Given the description of an element on the screen output the (x, y) to click on. 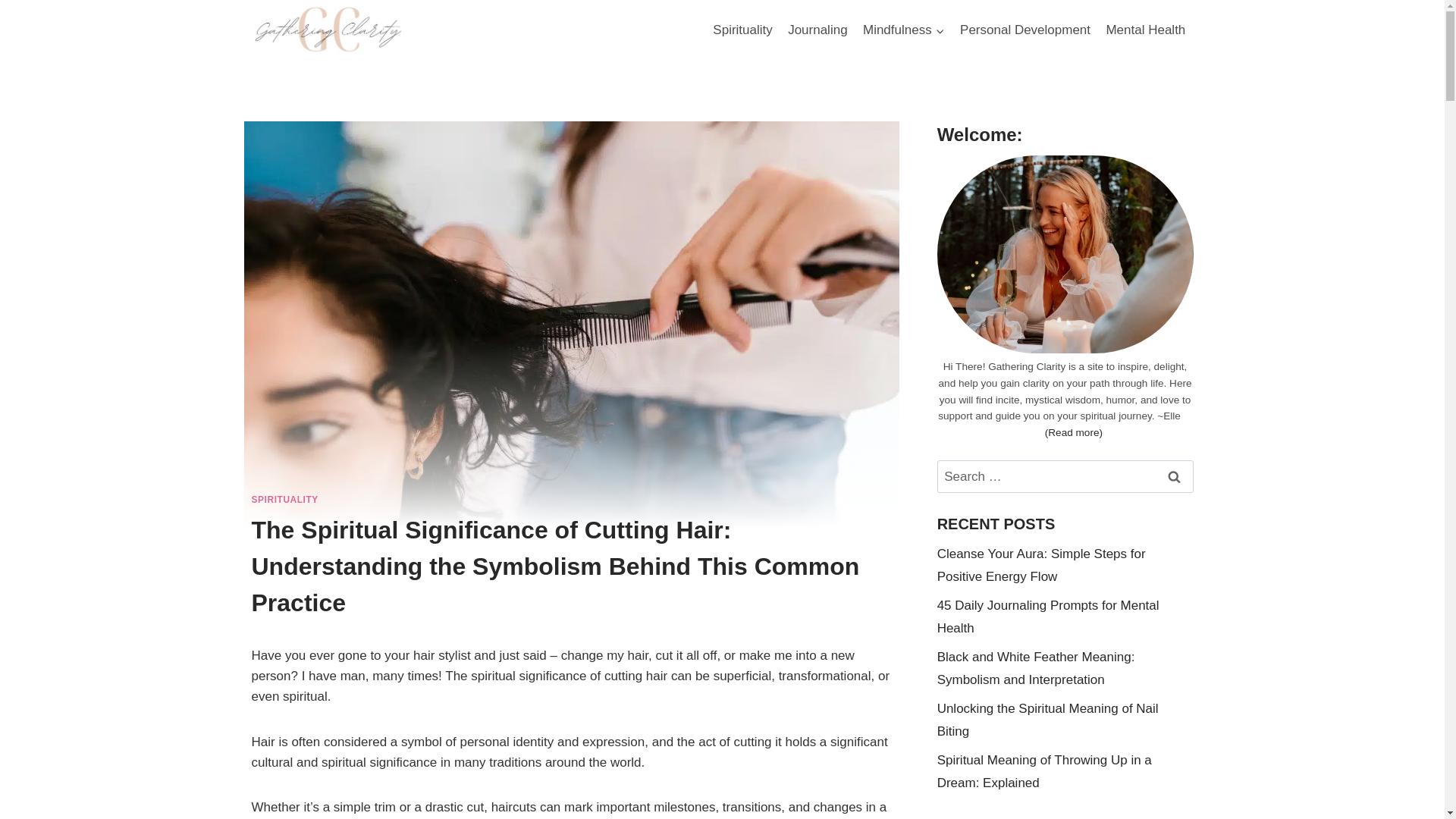
SPIRITUALITY (284, 499)
Search (1174, 476)
Mindfulness (904, 30)
Mental Health (1144, 30)
Journaling (818, 30)
Personal Development (1024, 30)
Spirituality (742, 30)
Search (1174, 476)
